Given the description of an element on the screen output the (x, y) to click on. 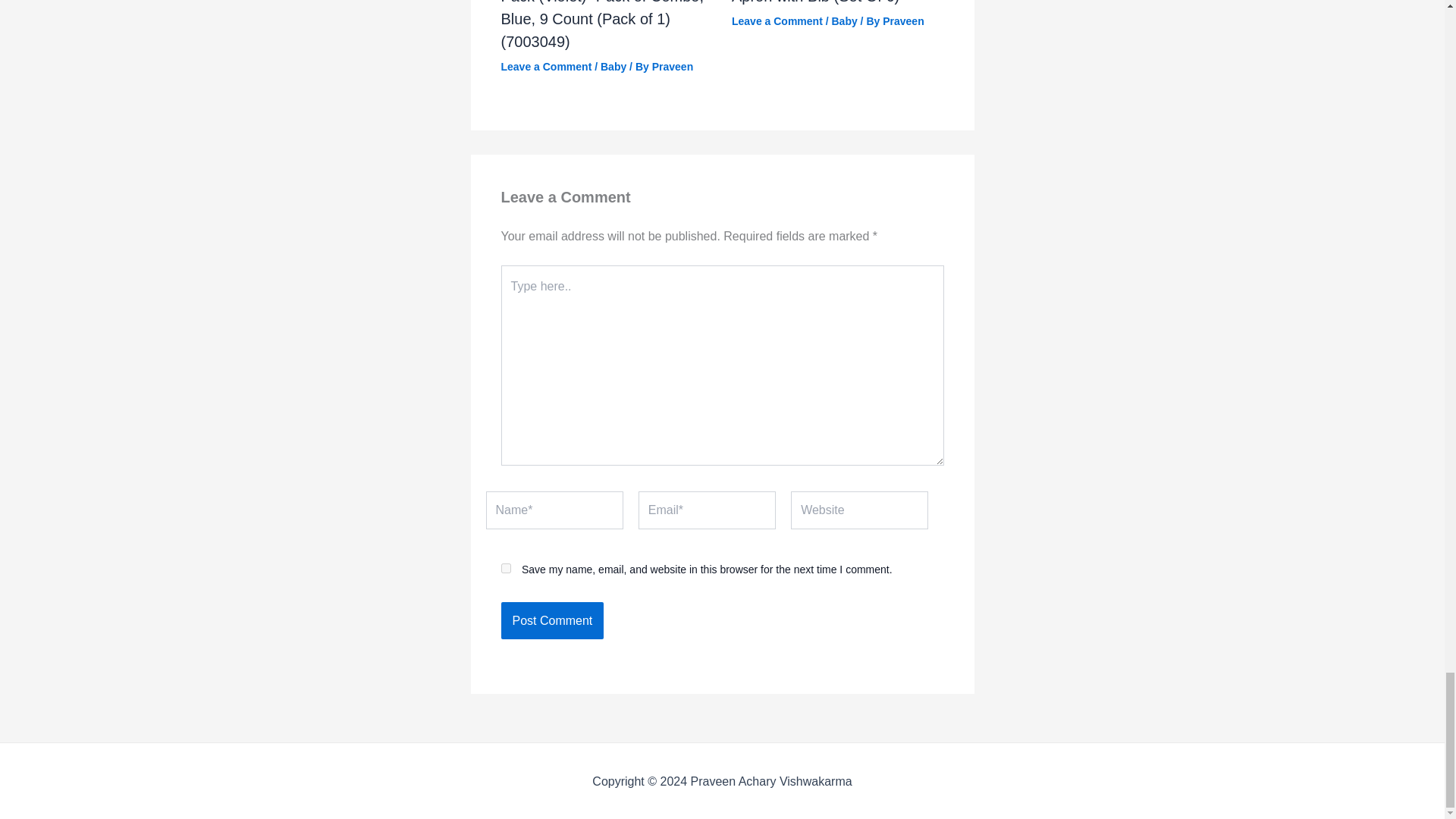
yes (505, 568)
View all posts by Praveen (672, 66)
Post Comment (552, 620)
View all posts by Praveen (902, 21)
